Given the description of an element on the screen output the (x, y) to click on. 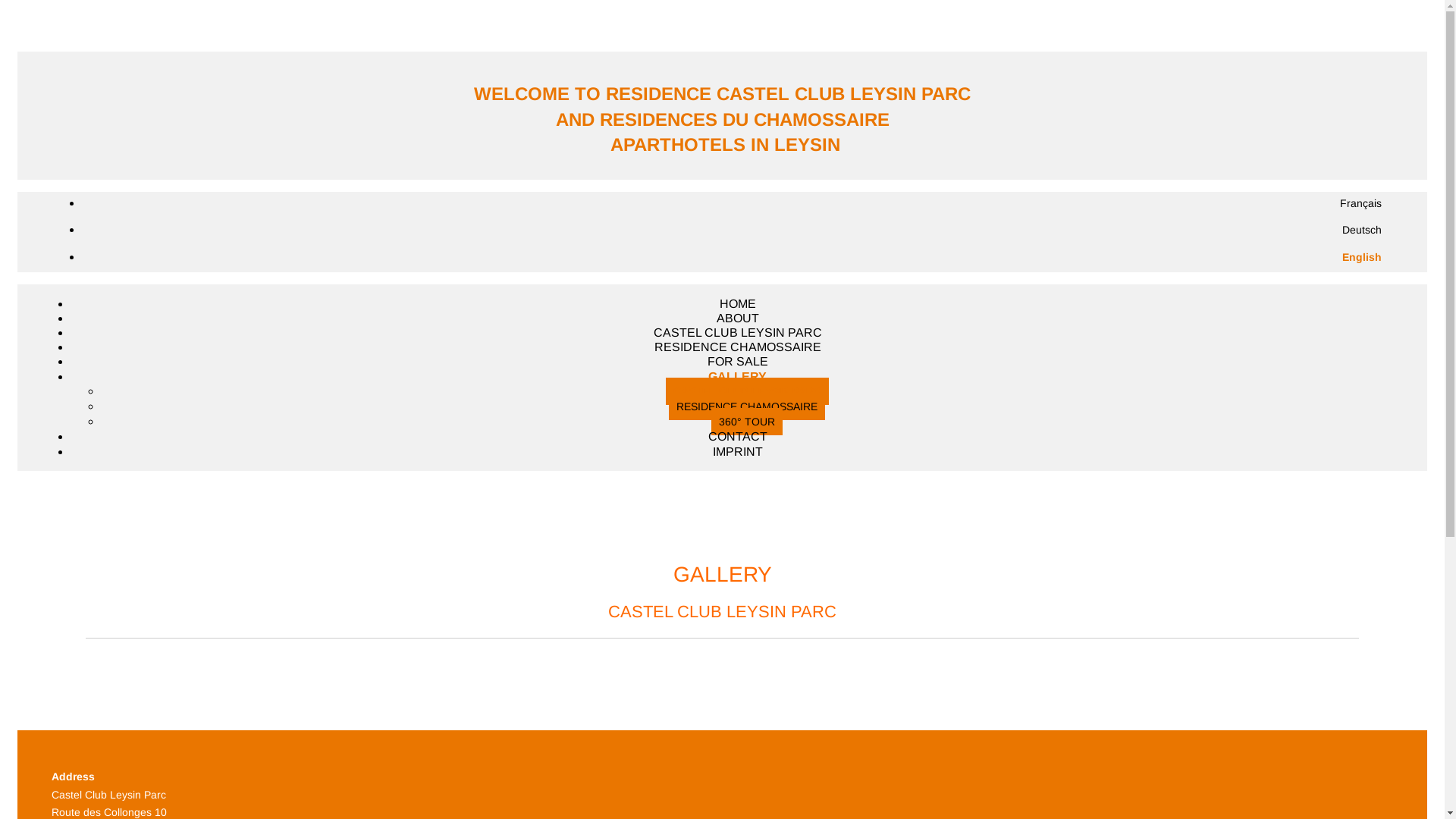
ABOUT Element type: text (736, 318)
RESIDENCE CHAMOSSAIRE Element type: text (736, 346)
CASTEL CLUB LEYSIN PARC Element type: text (737, 332)
CASTEL CLUB LEYSIN PARC Element type: text (746, 390)
English Element type: text (1361, 257)
FOR SALE Element type: text (736, 361)
IMPRINT Element type: text (737, 451)
CONTACT Element type: text (737, 436)
GALLERY Element type: text (737, 376)
HOME Element type: text (736, 303)
Deutsch Element type: text (1361, 229)
RESIDENCE CHAMOSSAIRE Element type: text (746, 406)
